Given the description of an element on the screen output the (x, y) to click on. 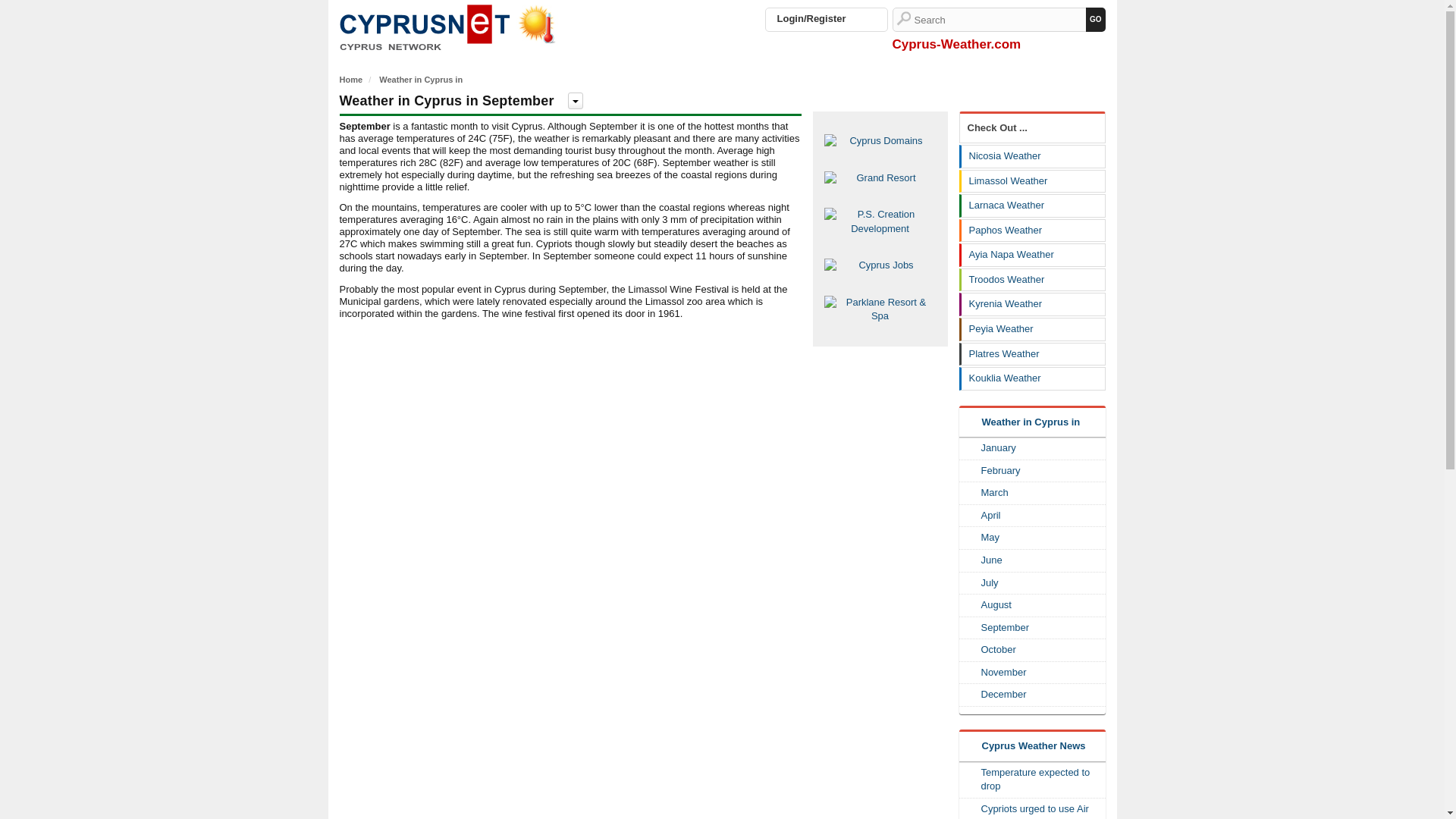
Weather in Cyprus in (420, 79)
Cyprus Weather (453, 26)
Paphos Weather (1032, 230)
Larnaca Weather (1032, 205)
Nicosia Weather (1032, 156)
Ayia Napa Weather (1032, 255)
Cyprus Weather (453, 28)
Troodos Weather (1032, 280)
Nicosia Weather (1032, 156)
Cyprus Jobs (880, 265)
